Given the description of an element on the screen output the (x, y) to click on. 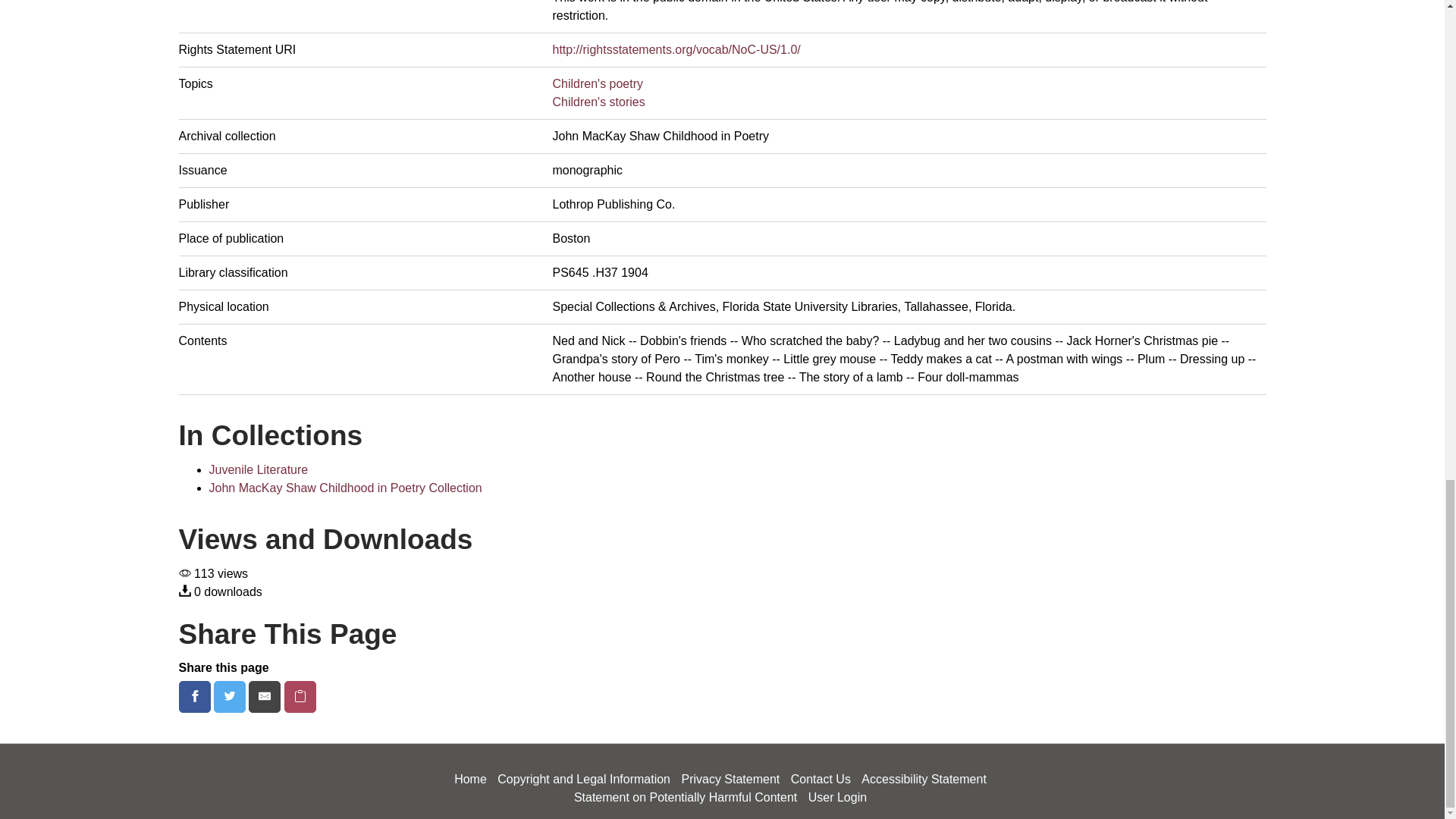
Share on Facebook (196, 696)
